Given the description of an element on the screen output the (x, y) to click on. 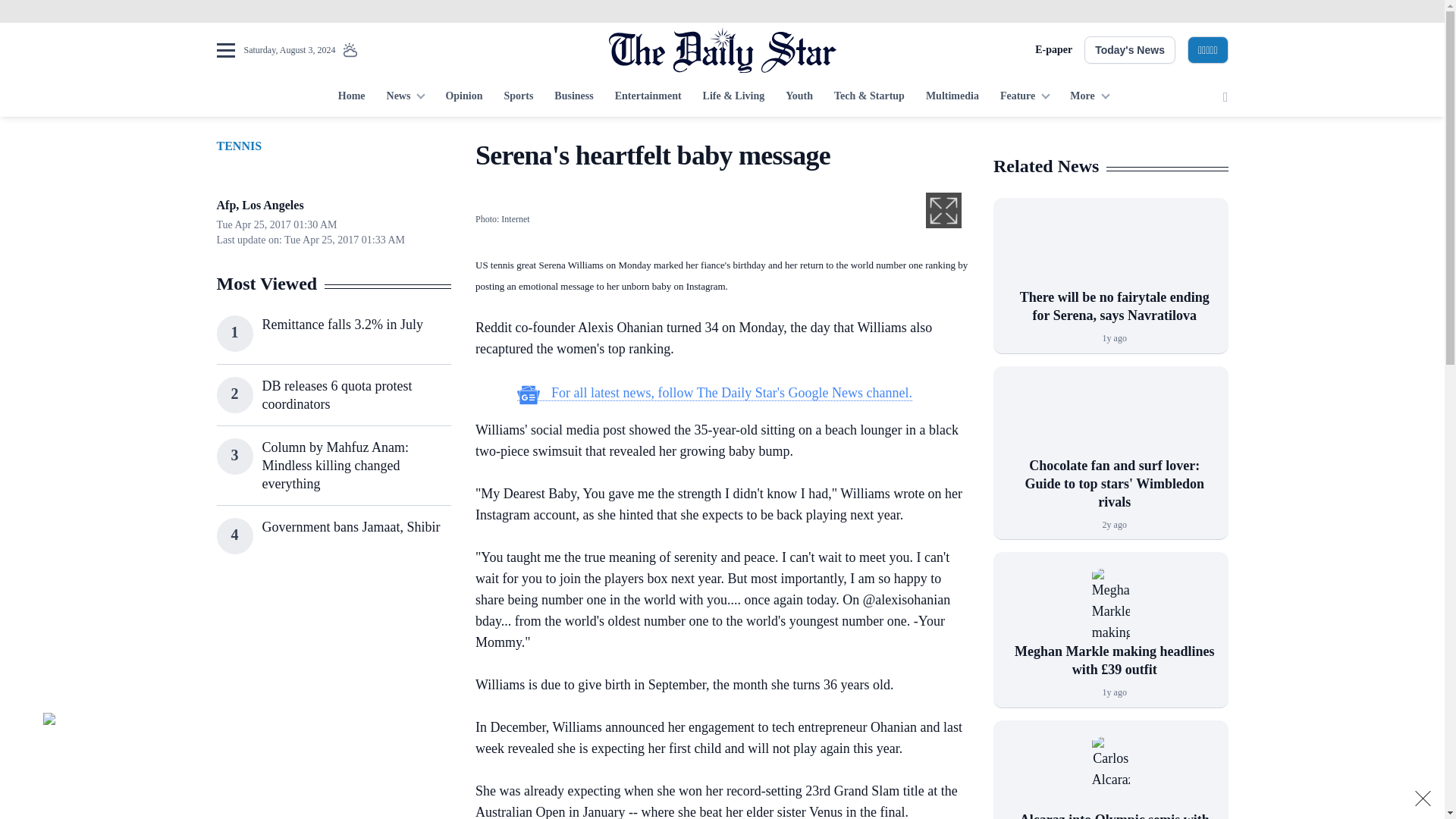
Entertainment (647, 96)
Business (573, 96)
E-paper (1053, 49)
Carlos Alcaraz (1110, 773)
Home (351, 96)
Sports (518, 96)
News (405, 96)
Multimedia (952, 96)
Today's News (1129, 49)
Opinion (463, 96)
Youth (799, 96)
Feature (1024, 96)
